Given the description of an element on the screen output the (x, y) to click on. 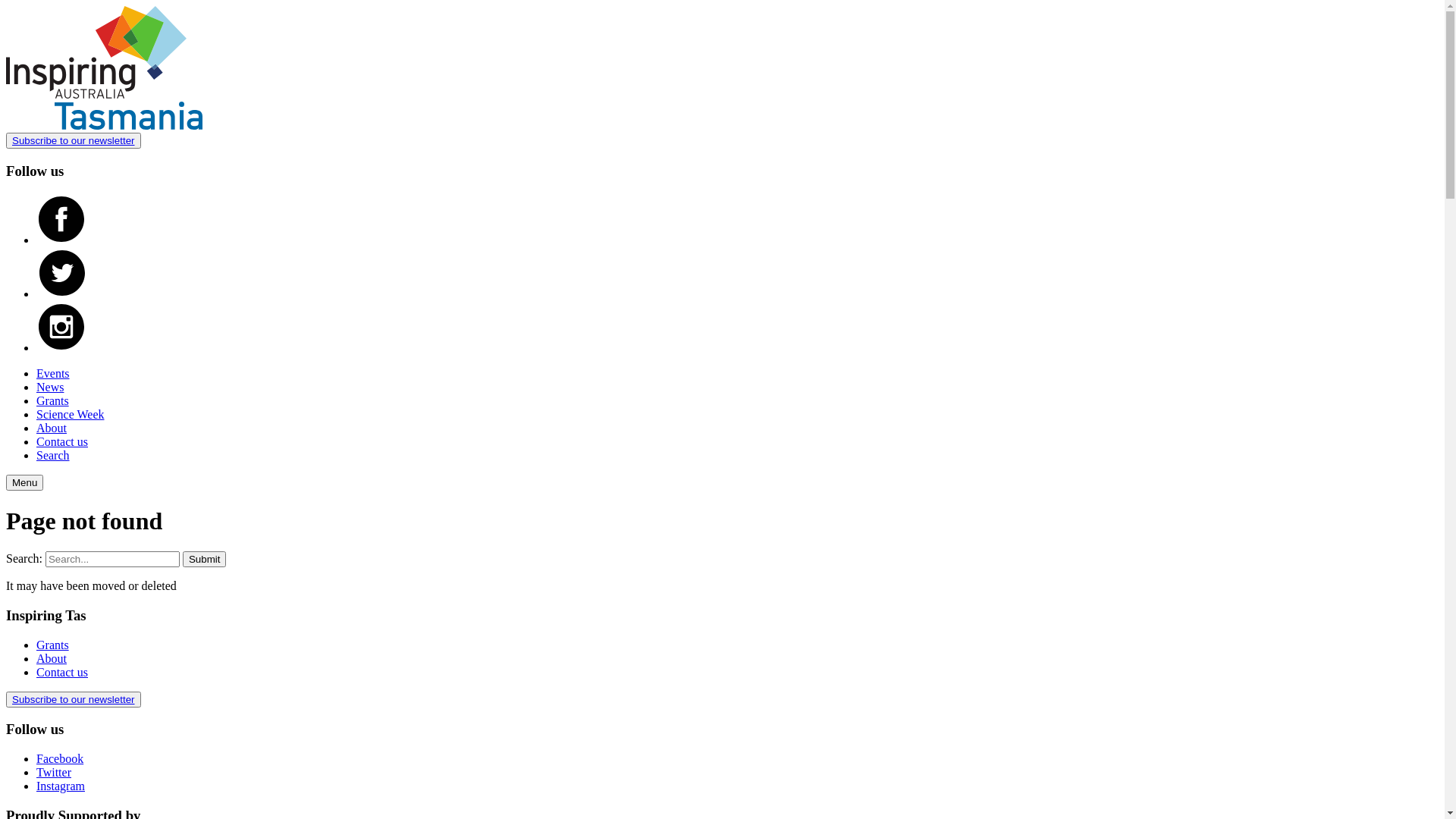
Subscribe to our newsletter Element type: text (73, 699)
Search Element type: text (52, 454)
Twitter Element type: text (53, 771)
Menu Element type: text (24, 482)
Science Week Element type: text (69, 413)
About Element type: text (51, 427)
Subscribe to our newsletter Element type: text (73, 140)
Facebook Element type: text (59, 758)
Contact us Element type: text (61, 671)
Subscribe to our newsletter Element type: text (73, 699)
Events Element type: text (52, 373)
Submit Element type: text (203, 559)
Grants Element type: text (52, 644)
Instagram Element type: text (60, 785)
Subscribe to our newsletter Element type: text (73, 140)
Contact us Element type: text (61, 441)
News Element type: text (49, 386)
About Element type: text (51, 658)
Grants Element type: text (52, 400)
